Given the description of an element on the screen output the (x, y) to click on. 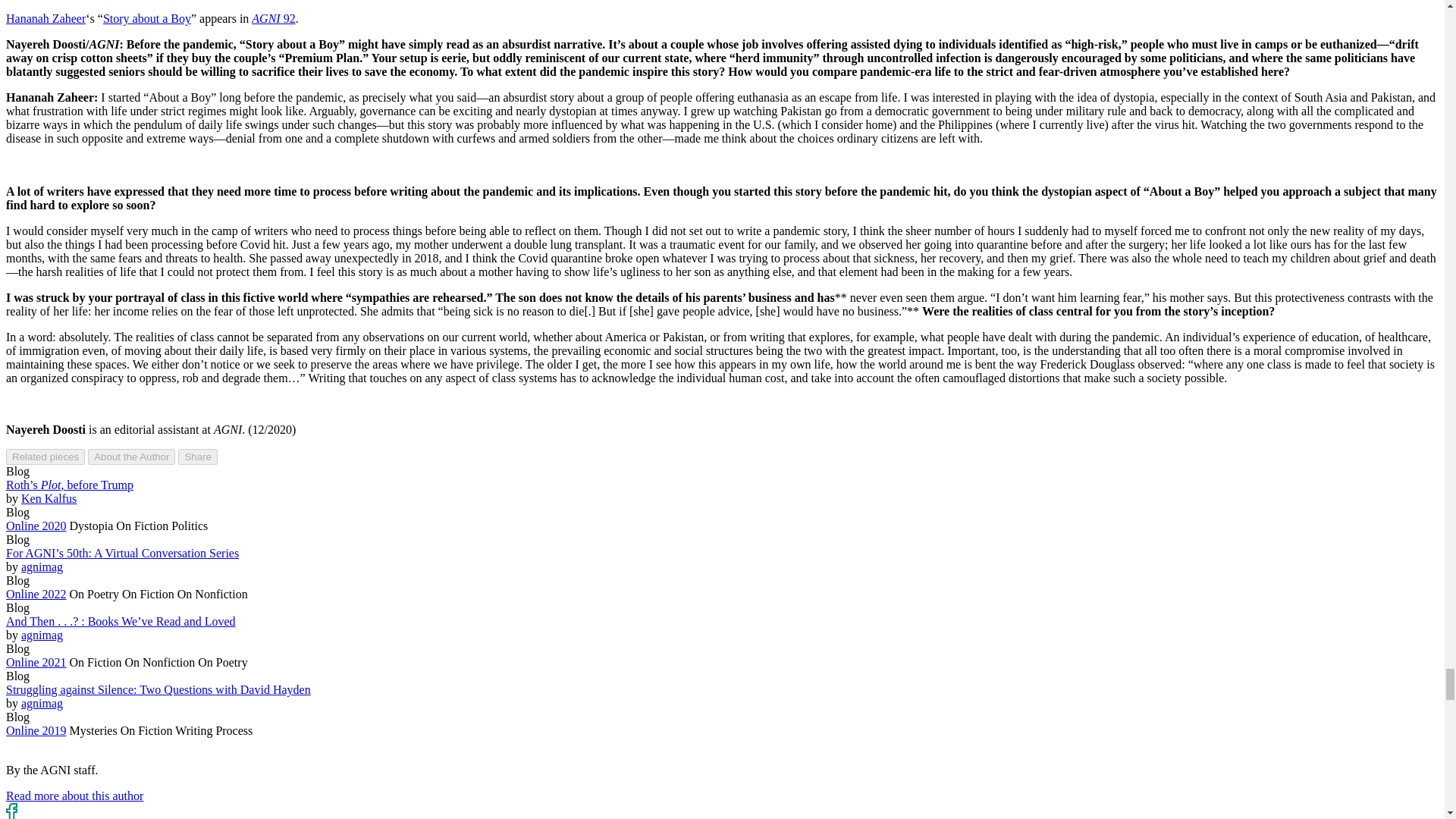
Story about a Boy (146, 18)
AGNI 92 (273, 18)
Hananah Zaheer (45, 18)
